Given the description of an element on the screen output the (x, y) to click on. 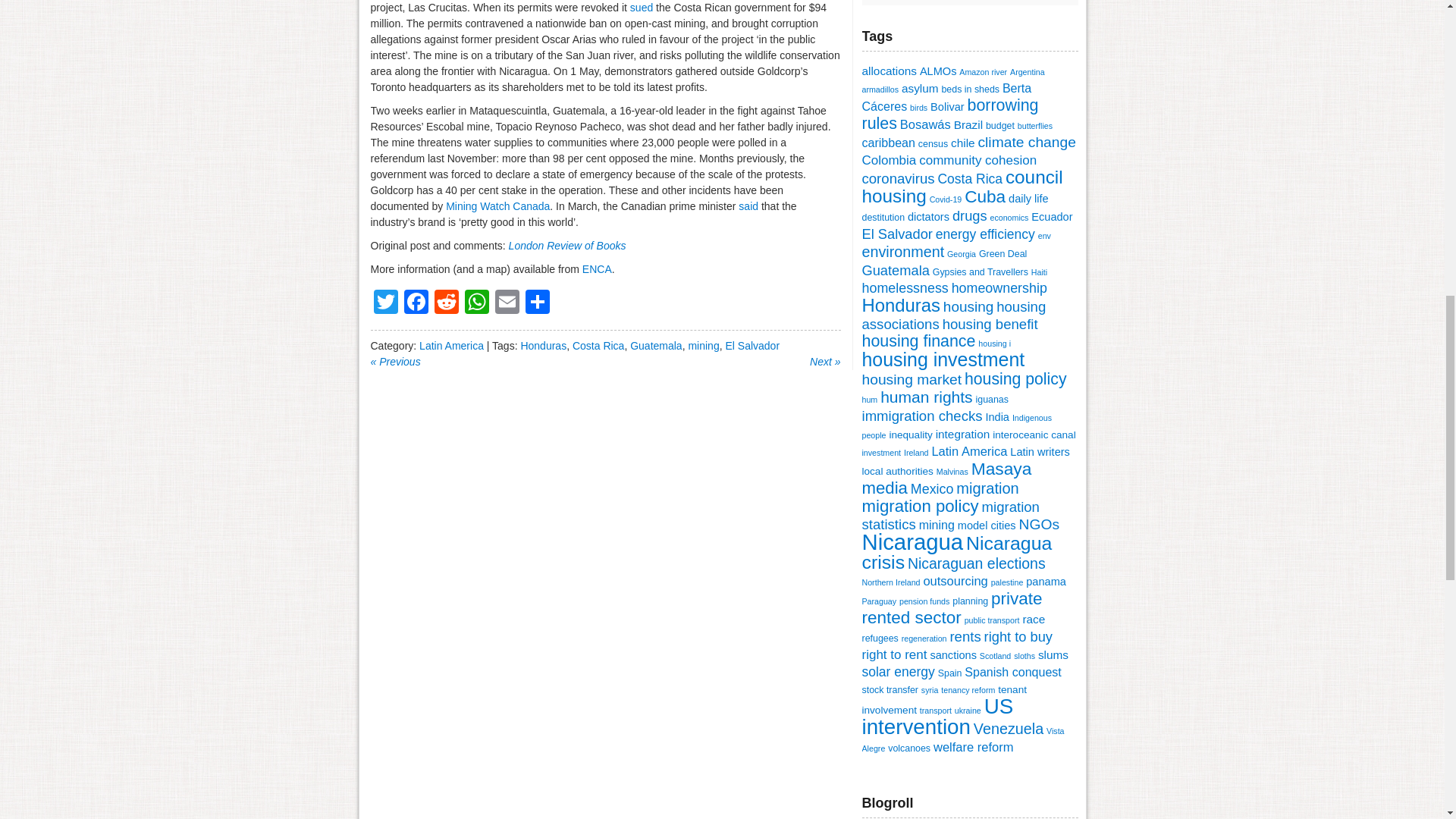
WhatsApp (476, 303)
Reddit (445, 303)
Facebook (415, 303)
Twitter (384, 303)
WhatsApp (476, 303)
ENCA (596, 268)
Share (536, 303)
El Salvador (751, 345)
London Review of Books (567, 245)
Email (506, 303)
Twitter (384, 303)
Email (506, 303)
mining (703, 345)
sued (641, 7)
Facebook (415, 303)
